Given the description of an element on the screen output the (x, y) to click on. 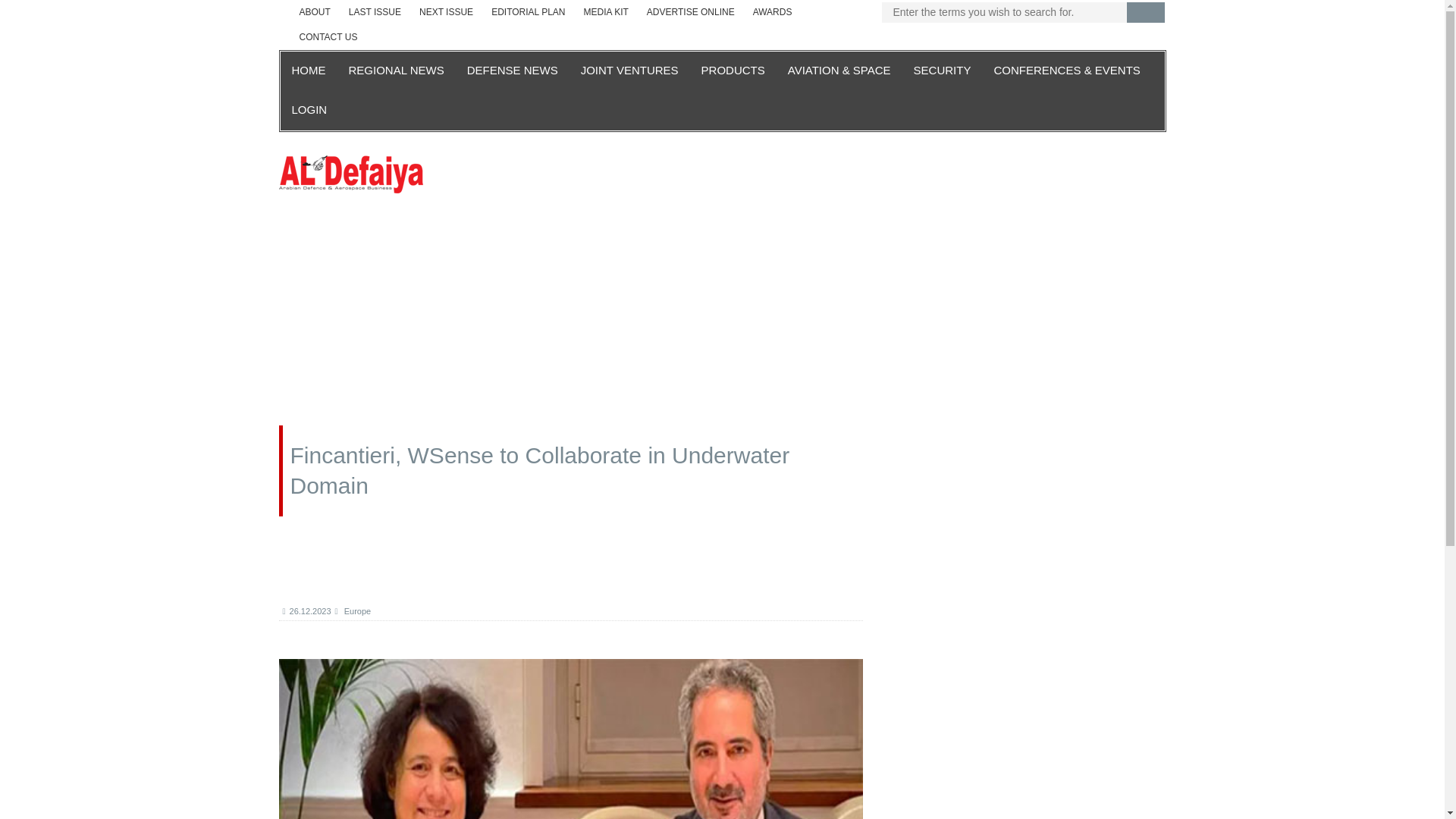
ADVERTISE ONLINE (690, 12)
Fincantieri, WSense to Collaborate in Underwater Domain (571, 739)
PRODUCTS (733, 70)
REGIONAL NEWS (395, 70)
JOINT VENTURES (629, 70)
Search (1145, 12)
EDITORIAL PLAN (527, 12)
ABOUT (314, 12)
CONTACT US (327, 37)
DEFENSE NEWS (512, 70)
